Given the description of an element on the screen output the (x, y) to click on. 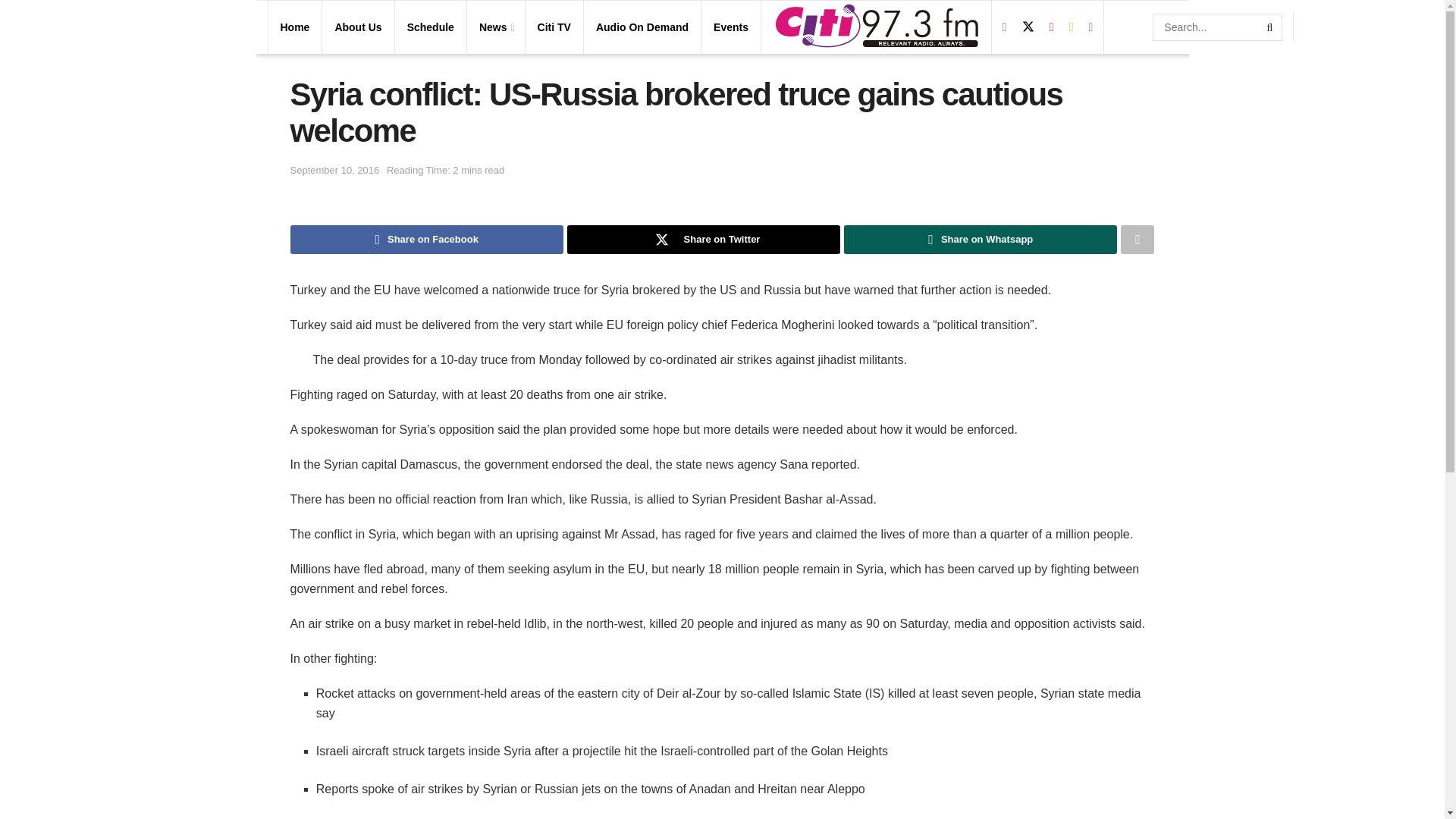
Schedule (430, 26)
Share on Facebook (425, 239)
Share on Twitter (703, 239)
Share on Whatsapp (980, 239)
September 10, 2016 (333, 170)
Audio On Demand (641, 26)
News (495, 26)
Events (730, 26)
Home (295, 26)
Citi TV (553, 26)
